Given the description of an element on the screen output the (x, y) to click on. 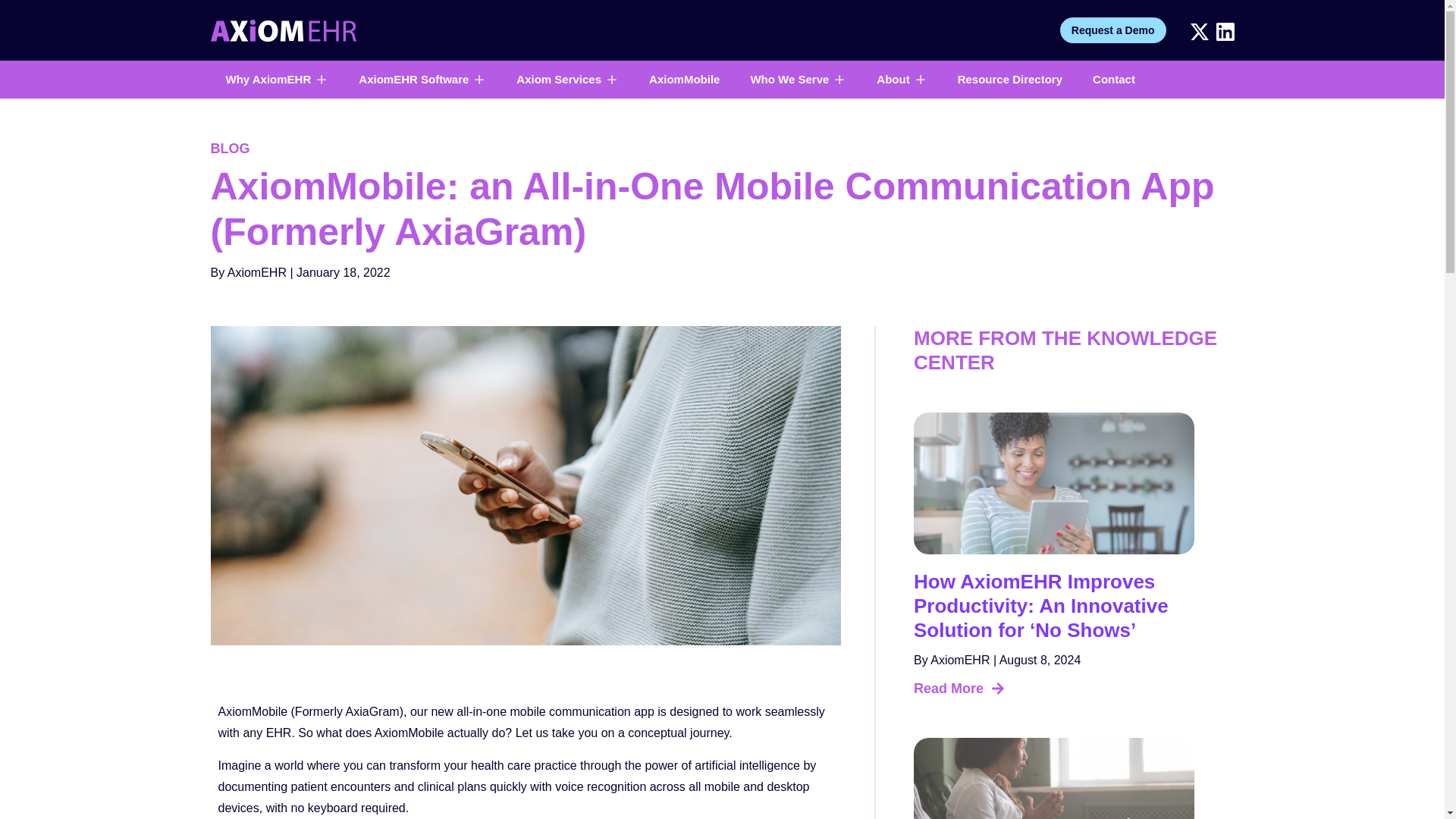
AxiomMobile (684, 79)
Why AxiomEHR (268, 79)
Who We Serve (788, 79)
Contact (1114, 79)
Request a Demo (1112, 30)
Axiom Services (558, 79)
AxiomEHR Software (413, 79)
Resource Directory (1010, 79)
About (892, 79)
